Given the description of an element on the screen output the (x, y) to click on. 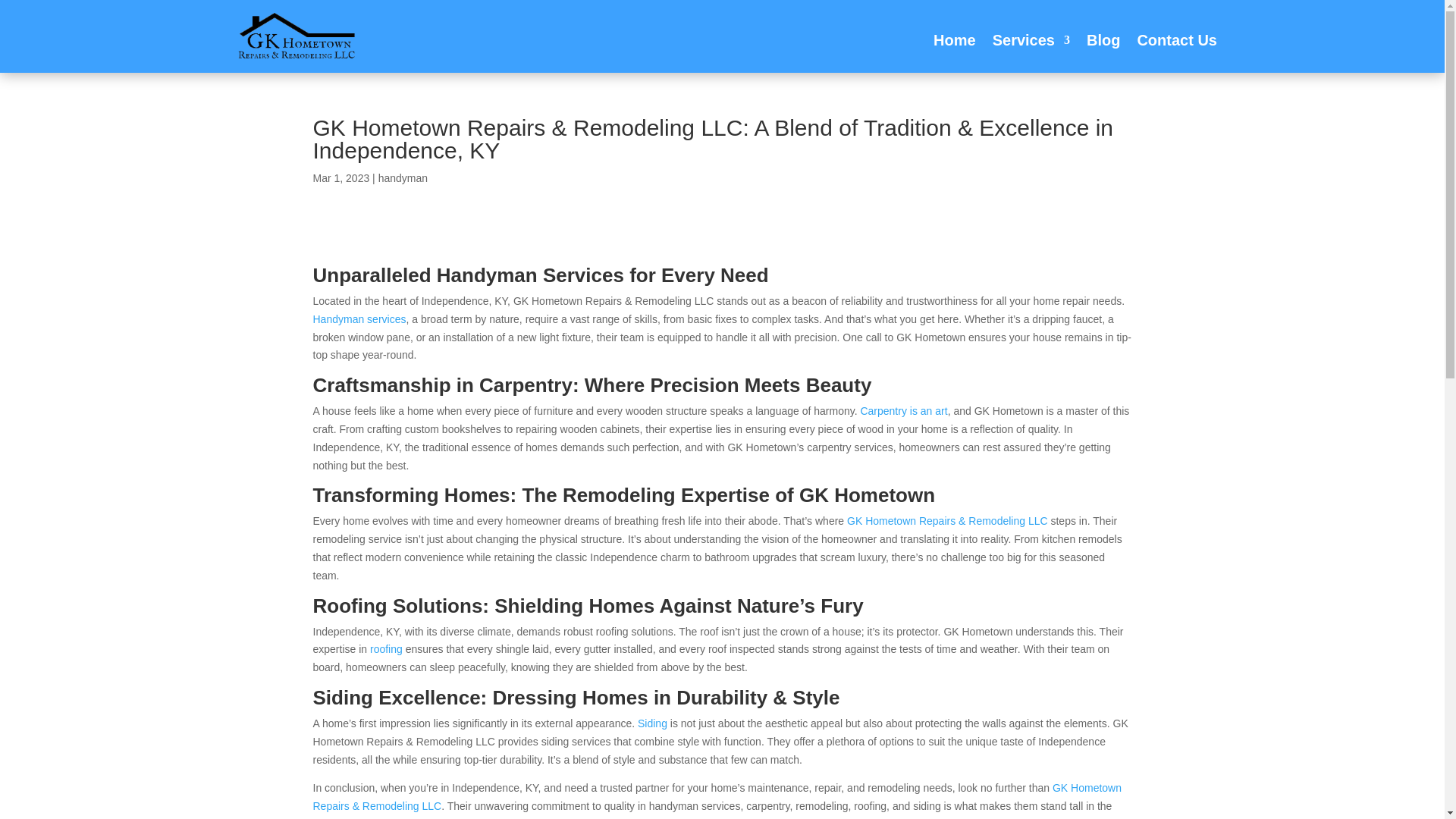
handyman (403, 177)
Carpentry is an art (903, 410)
roofing (387, 648)
Siding (653, 723)
Services (1031, 39)
Contact Us (1177, 39)
Handyman services (359, 318)
